Given the description of an element on the screen output the (x, y) to click on. 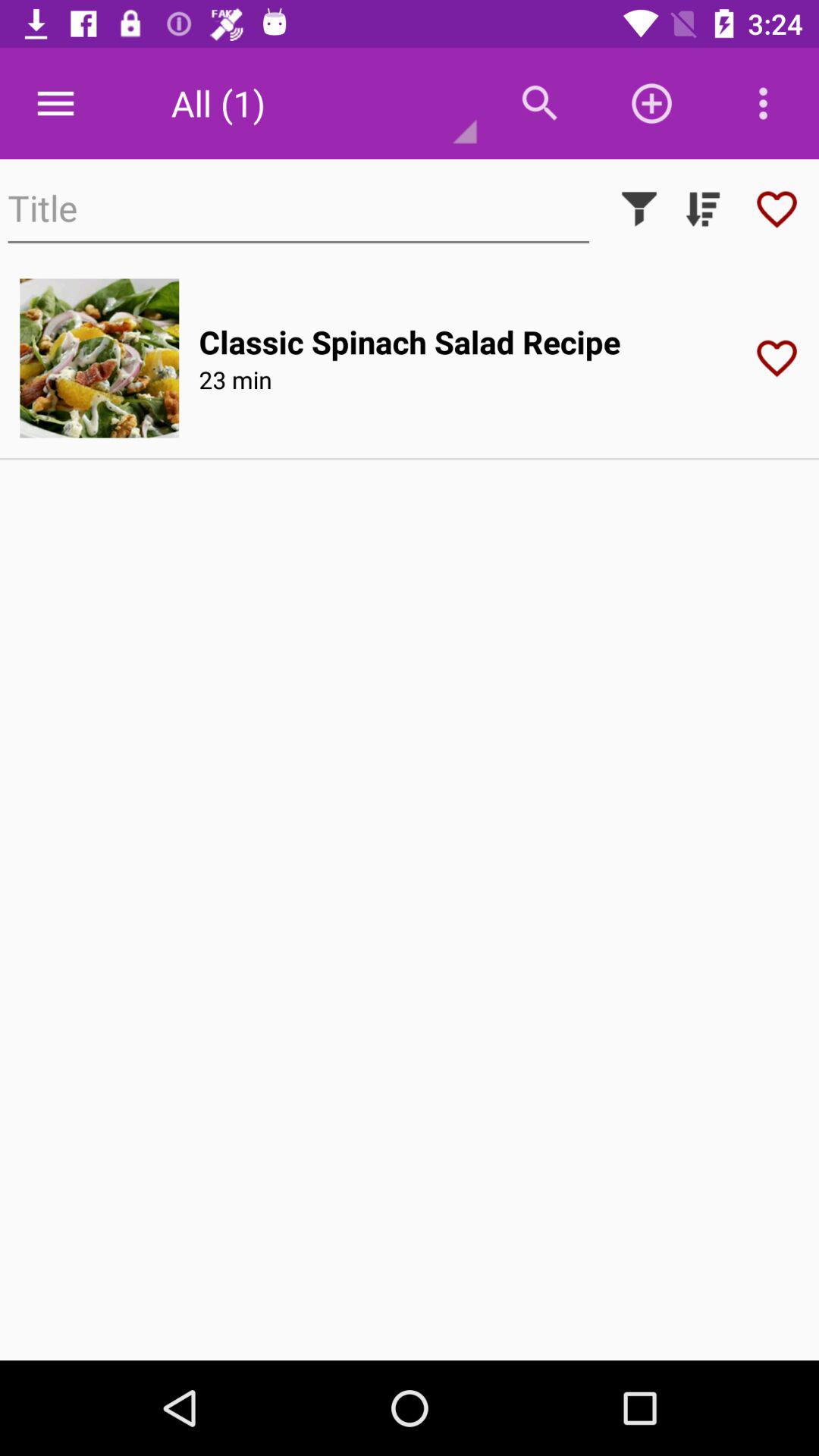
set title (298, 208)
